Given the description of an element on the screen output the (x, y) to click on. 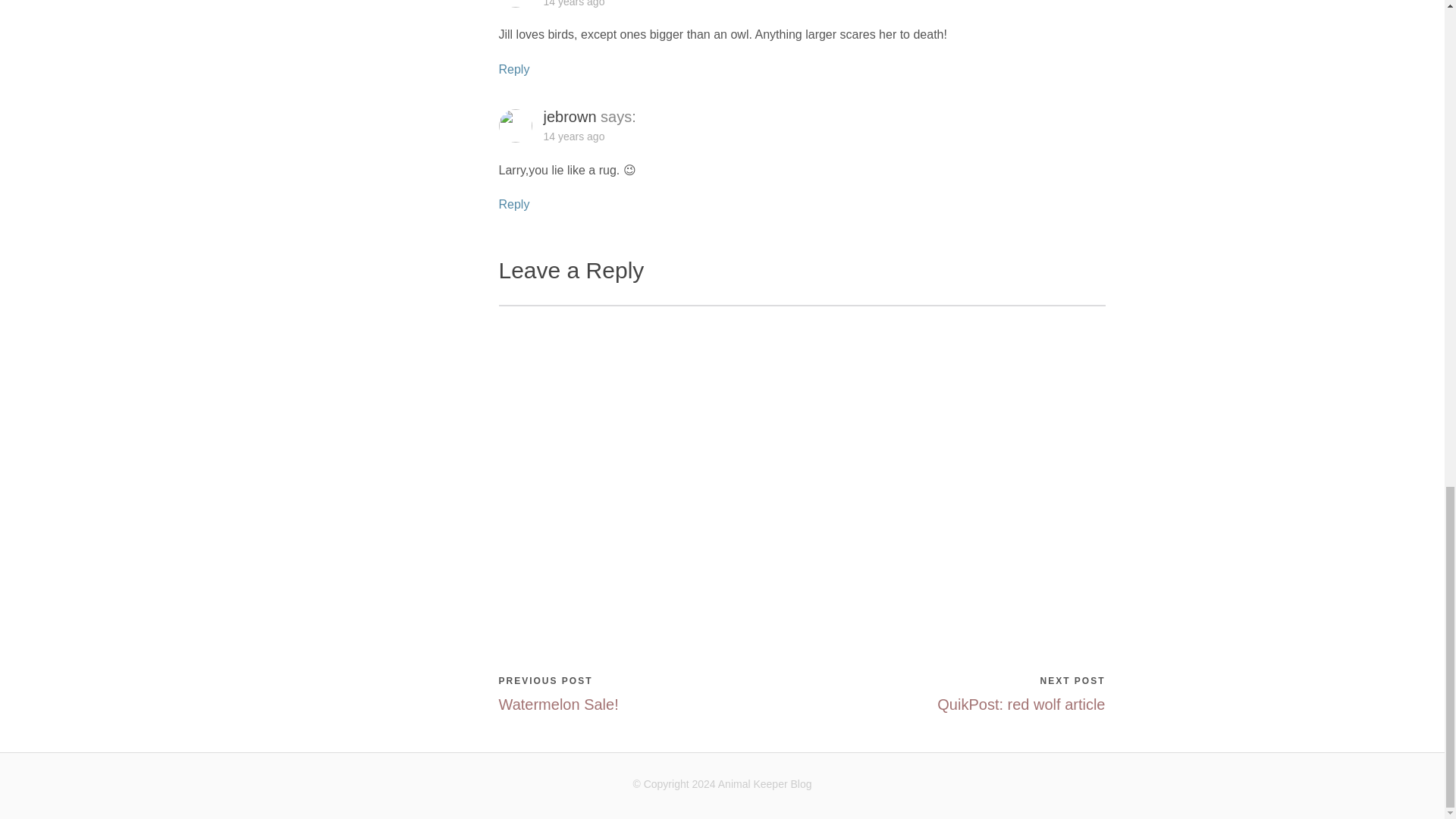
Reply (514, 69)
Watermelon Sale! (558, 704)
Reply (514, 204)
14 years ago (575, 136)
14 years ago (575, 3)
QuikPost: red wolf article (1021, 704)
